Given the description of an element on the screen output the (x, y) to click on. 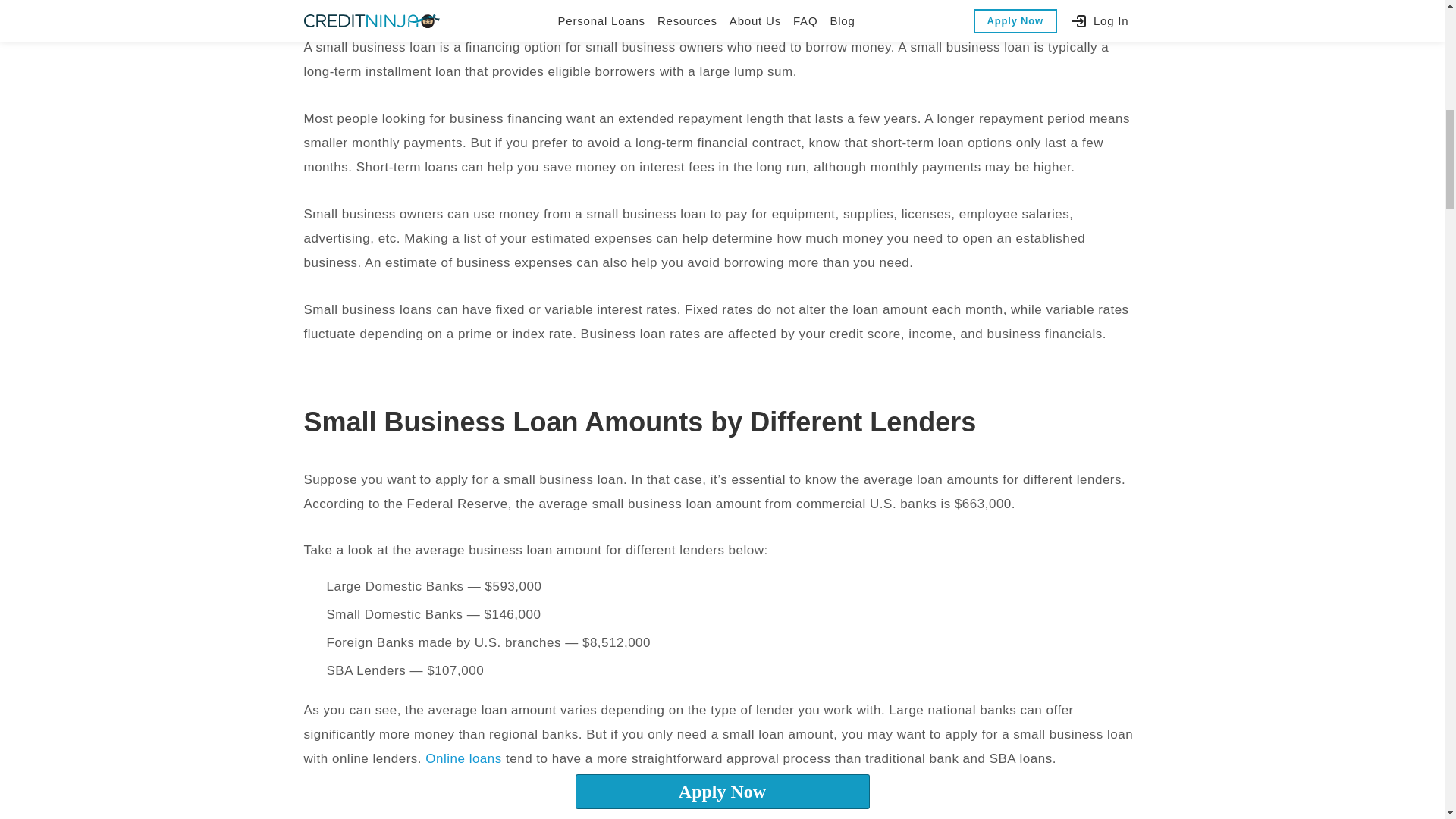
Online loans (463, 758)
